Given the description of an element on the screen output the (x, y) to click on. 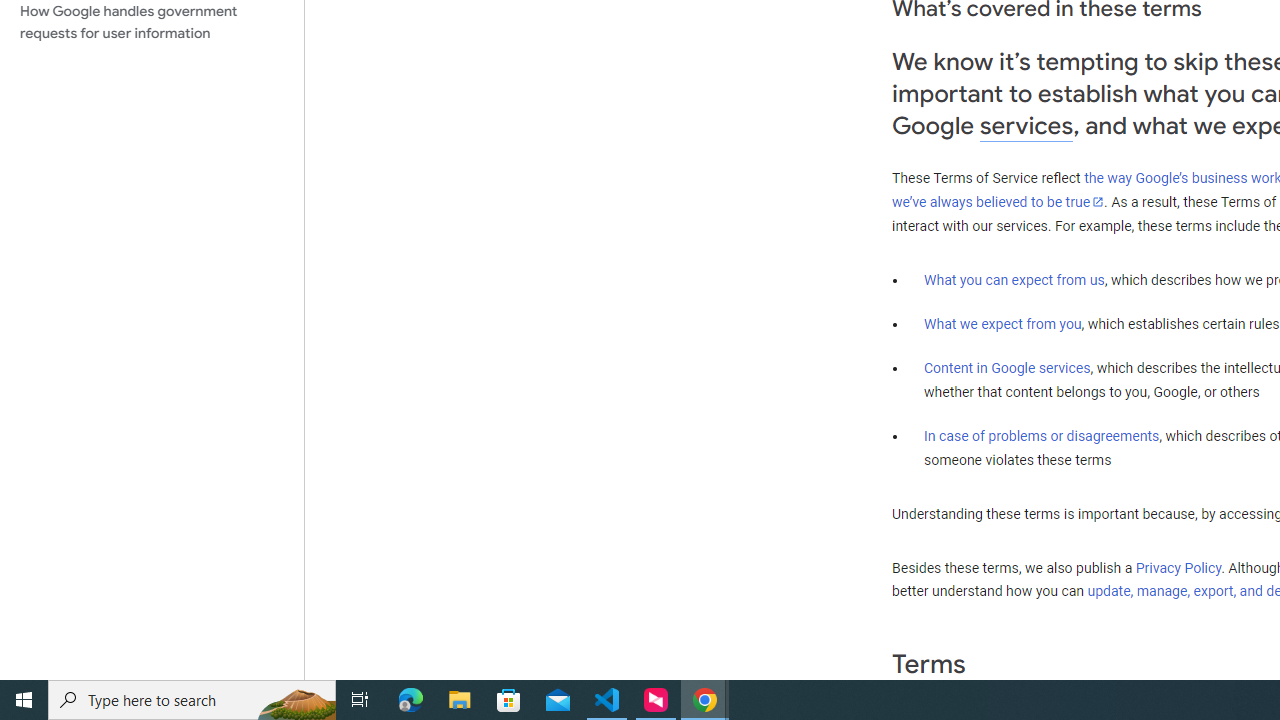
Content in Google services (1007, 368)
In case of problems or disagreements (1041, 435)
services (1026, 125)
What we expect from you (1002, 323)
What you can expect from us (1014, 279)
